Given the description of an element on the screen output the (x, y) to click on. 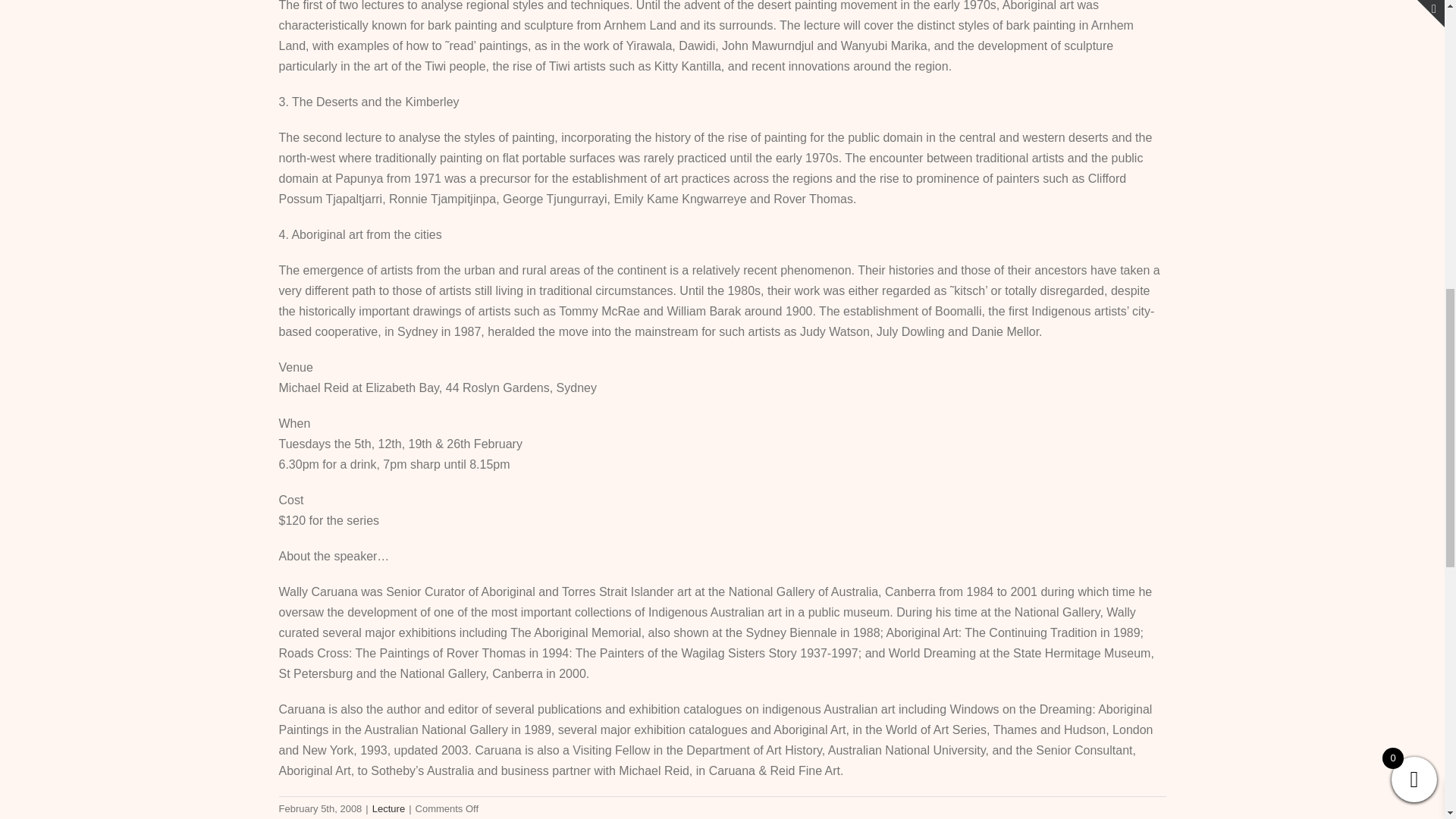
Lecture (388, 808)
